Given the description of an element on the screen output the (x, y) to click on. 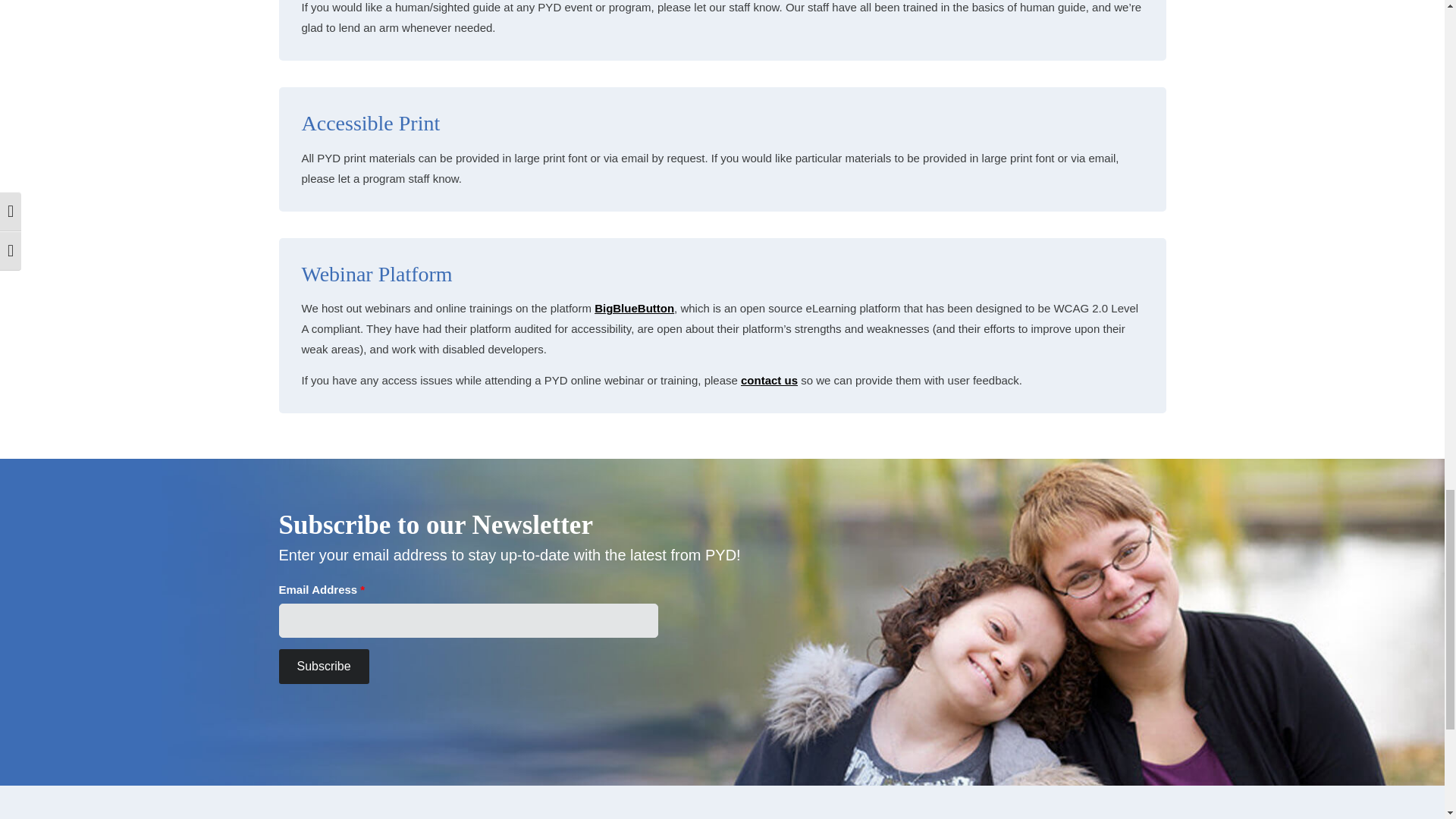
BigBlueButton (634, 308)
Subscribe (324, 666)
Subscribe (324, 666)
contact us (769, 379)
